Given the description of an element on the screen output the (x, y) to click on. 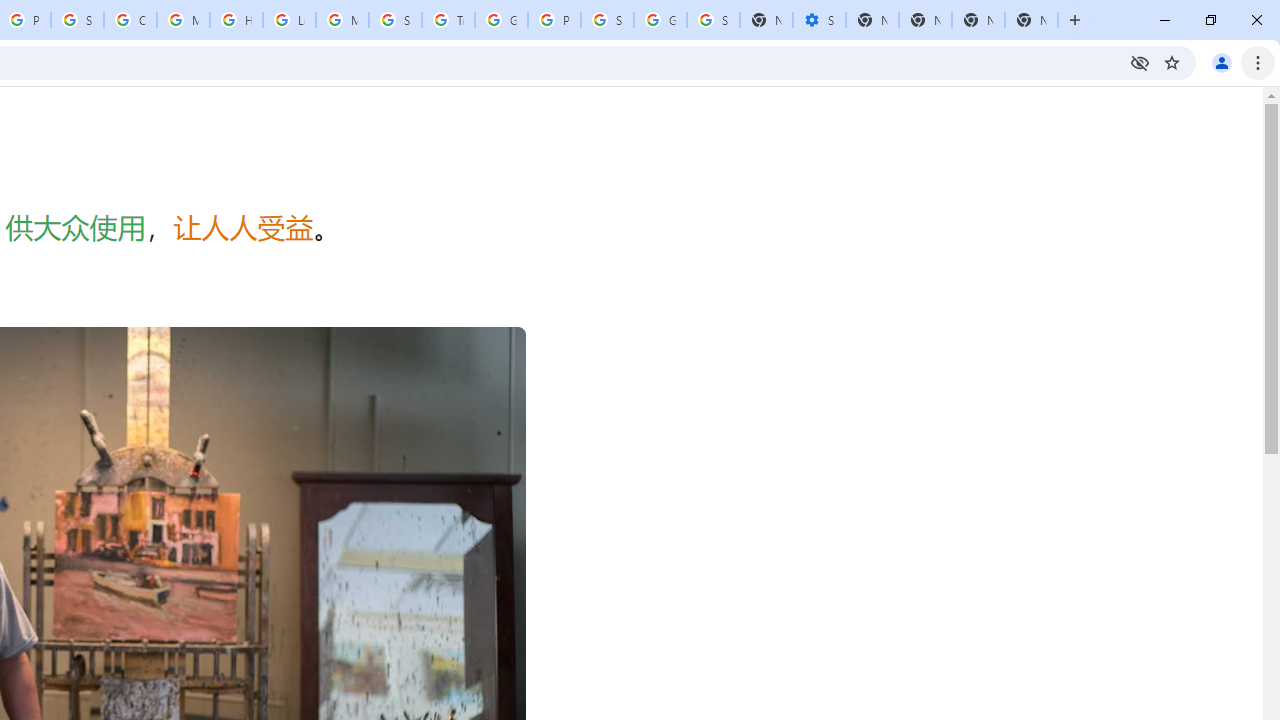
Trusted Information and Content - Google Safety Center (448, 20)
Settings - Performance (819, 20)
Third-party cookies blocked (1139, 62)
New Tab (1075, 20)
Chrome (1260, 62)
New Tab (1031, 20)
Google Ads - Sign in (501, 20)
Minimize (1165, 20)
Search our Doodle Library Collection - Google Doodles (395, 20)
Bookmark this tab (1171, 62)
Restore (1210, 20)
Sign in - Google Accounts (607, 20)
Sign in - Google Accounts (77, 20)
